Given the description of an element on the screen output the (x, y) to click on. 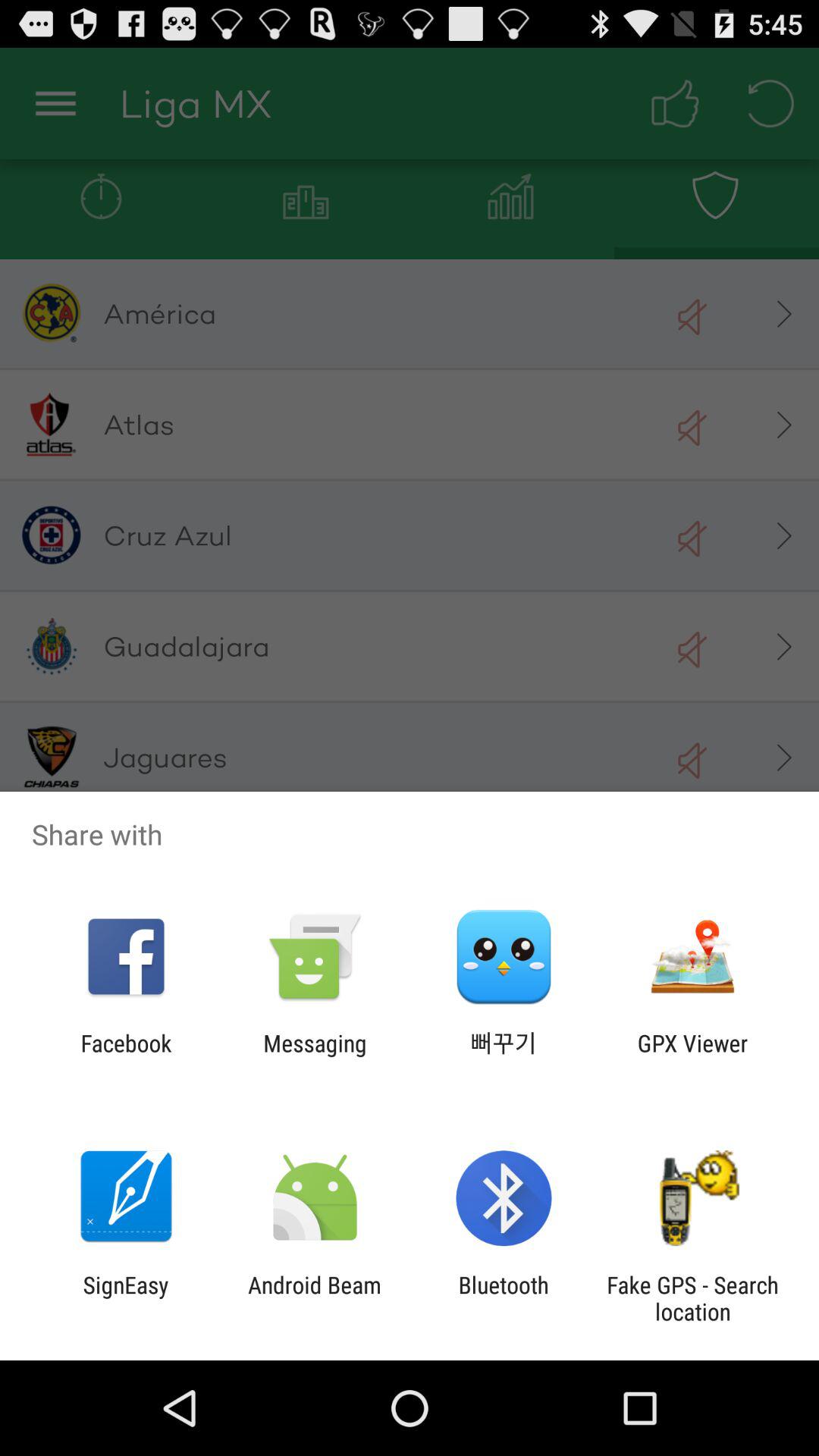
tap bluetooth icon (503, 1298)
